Given the description of an element on the screen output the (x, y) to click on. 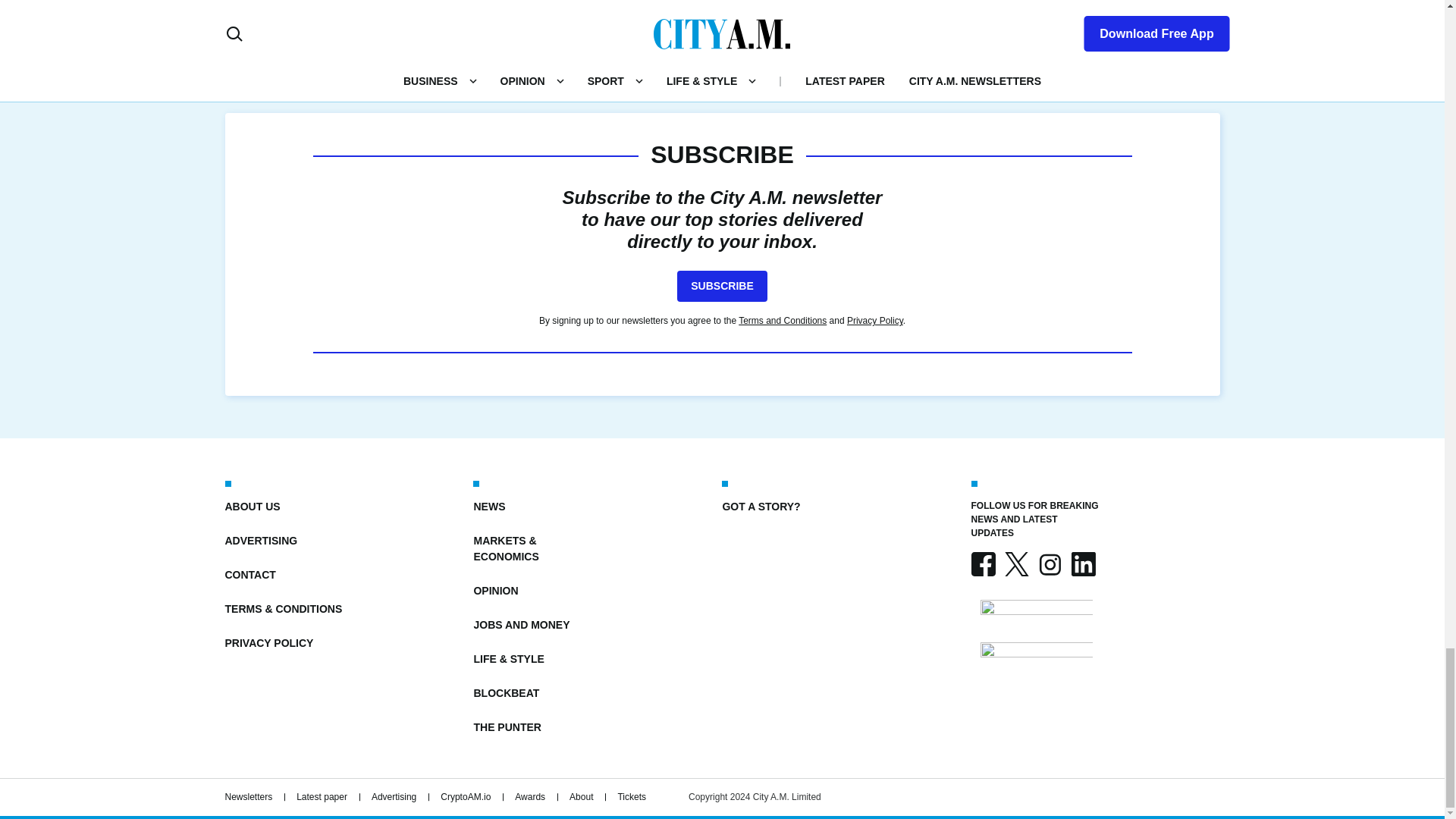
X (1015, 564)
INSTAGRAM (1048, 564)
LINKEDIN (1082, 564)
FACEBOOK (982, 564)
